Given the description of an element on the screen output the (x, y) to click on. 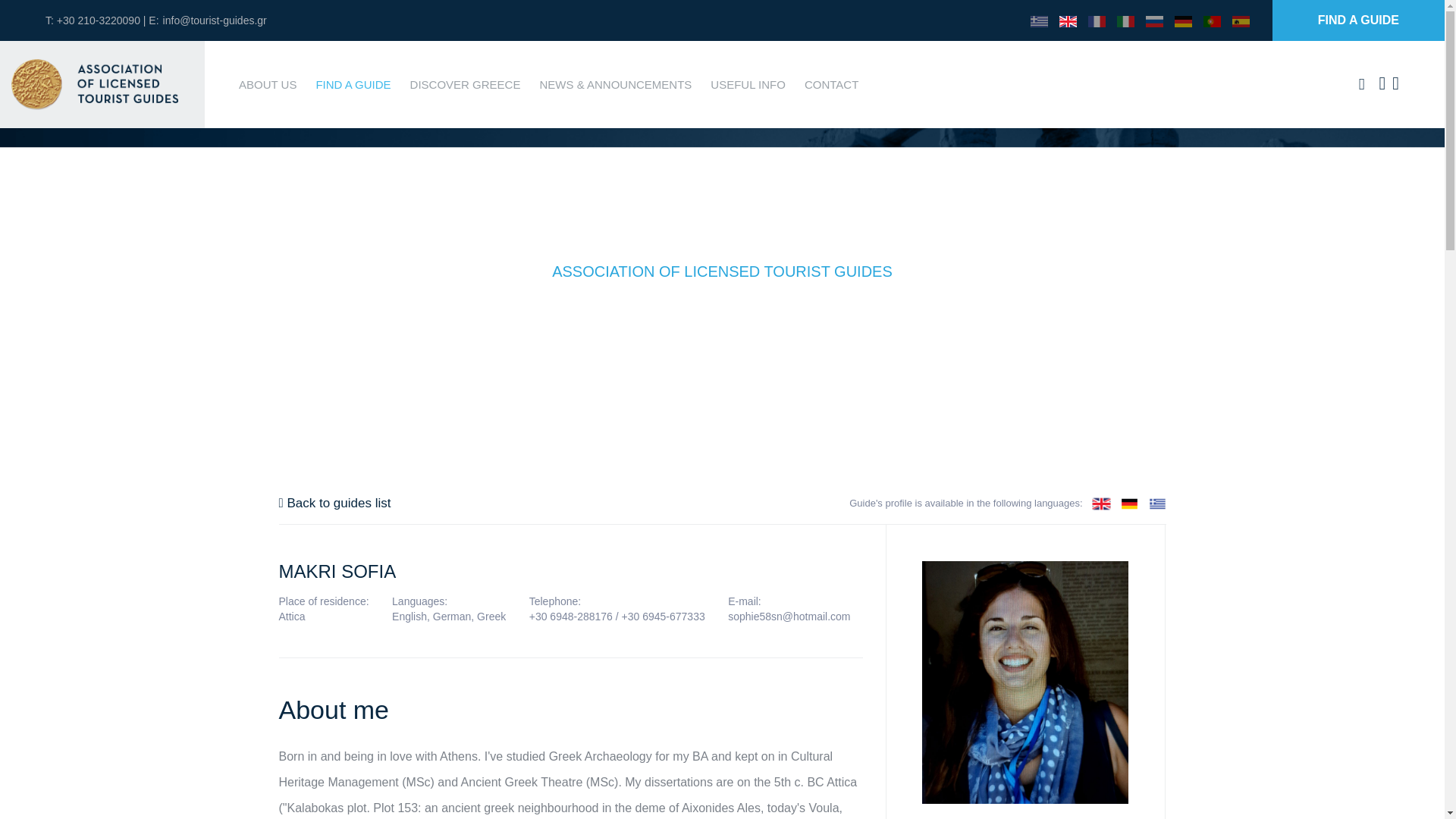
ABOUT US (267, 83)
Greek (1157, 502)
Russian (1154, 20)
GUIDES WITH PERSONAL PAGES (743, 333)
Back to guides list (335, 503)
English (1101, 502)
CONTACT (832, 83)
Spanish (1240, 20)
German (1129, 502)
French (1096, 20)
English (1068, 20)
Italian (1125, 20)
German (1183, 20)
DISCOVER GREECE (465, 83)
USEFUL INFO (748, 83)
